Given the description of an element on the screen output the (x, y) to click on. 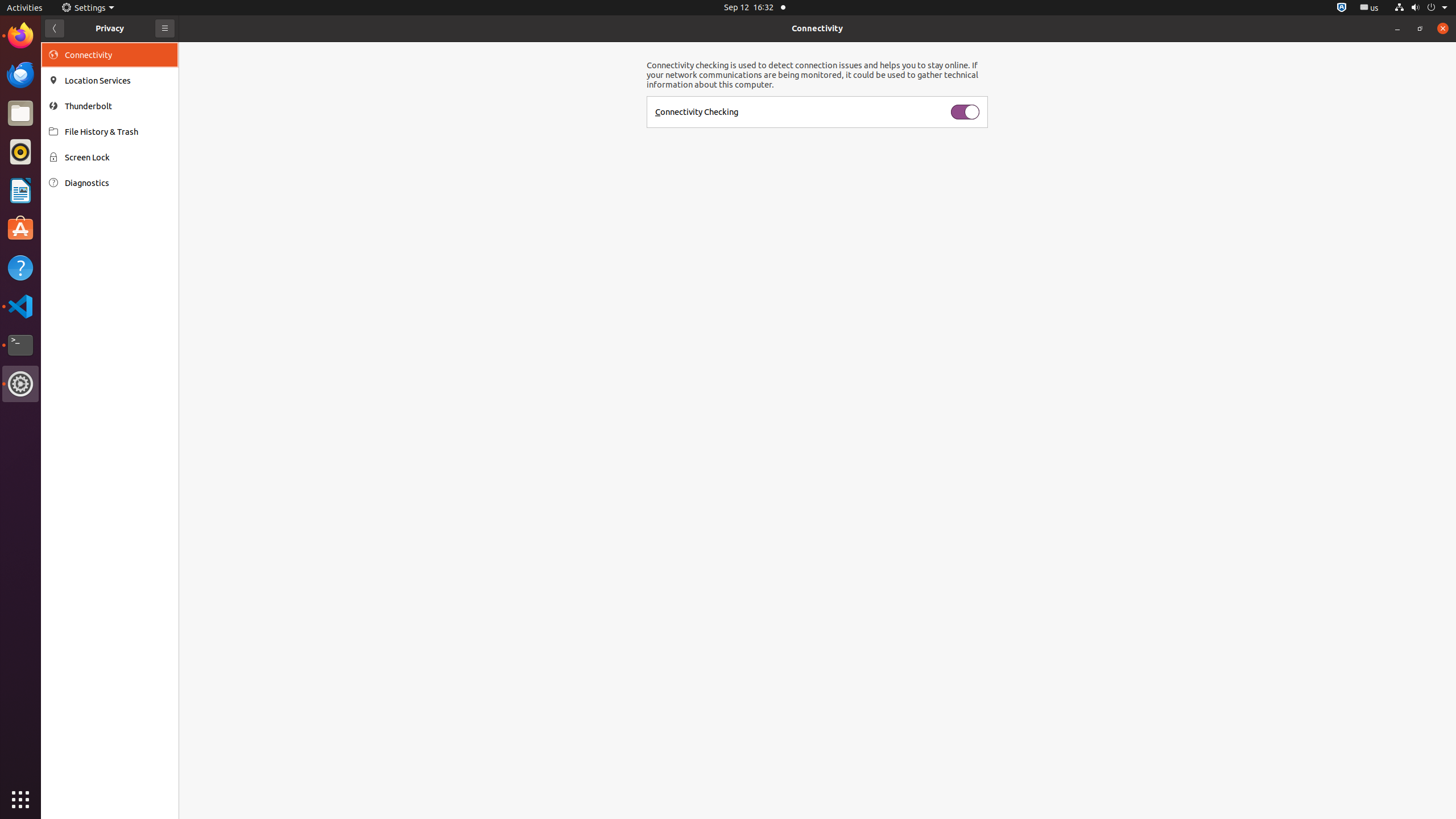
Screen Lock Element type: label (117, 157)
Activities Element type: label (24, 7)
Location Services Element type: label (117, 80)
